Given the description of an element on the screen output the (x, y) to click on. 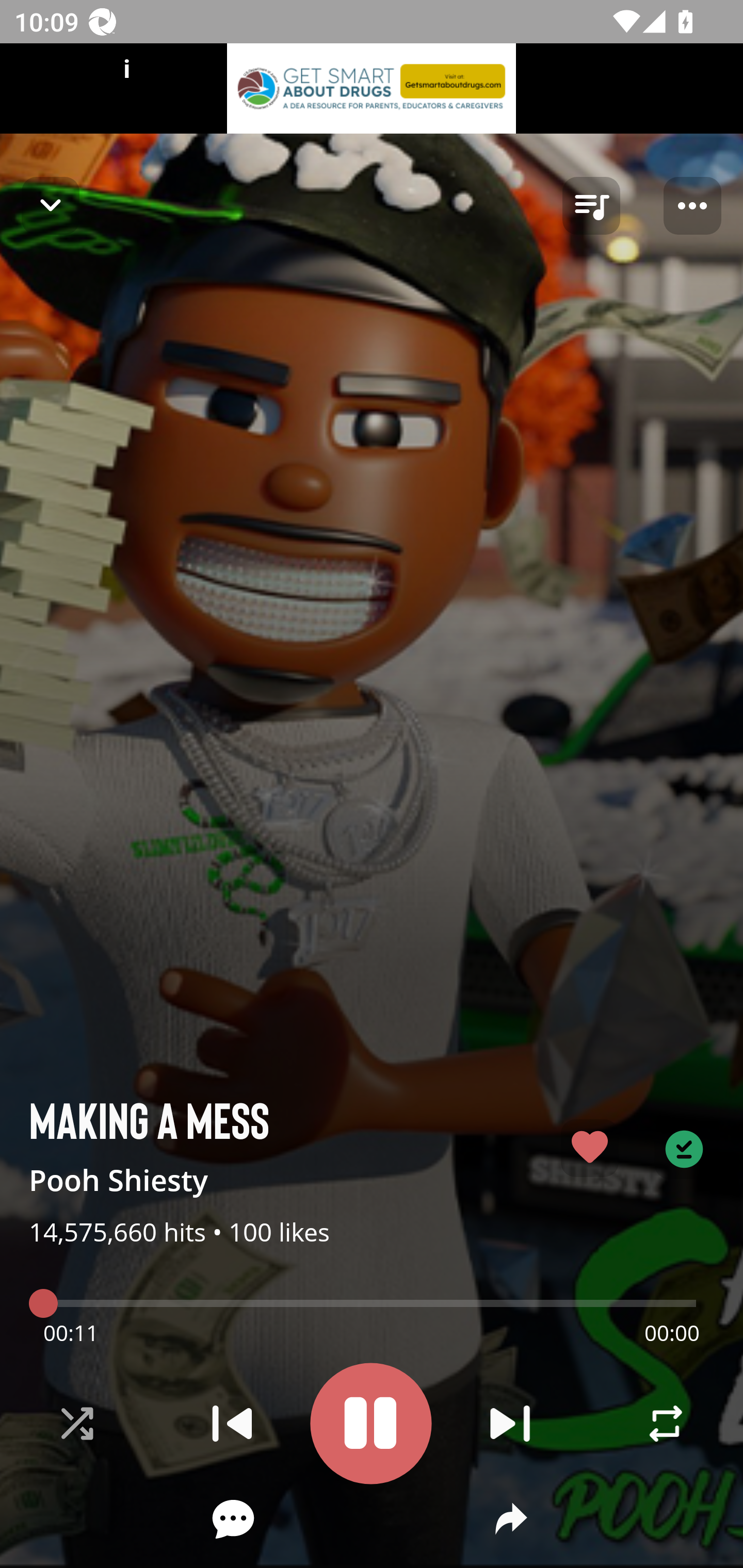
Navigate up (50, 205)
queue (590, 206)
Player options (692, 206)
